Given the description of an element on the screen output the (x, y) to click on. 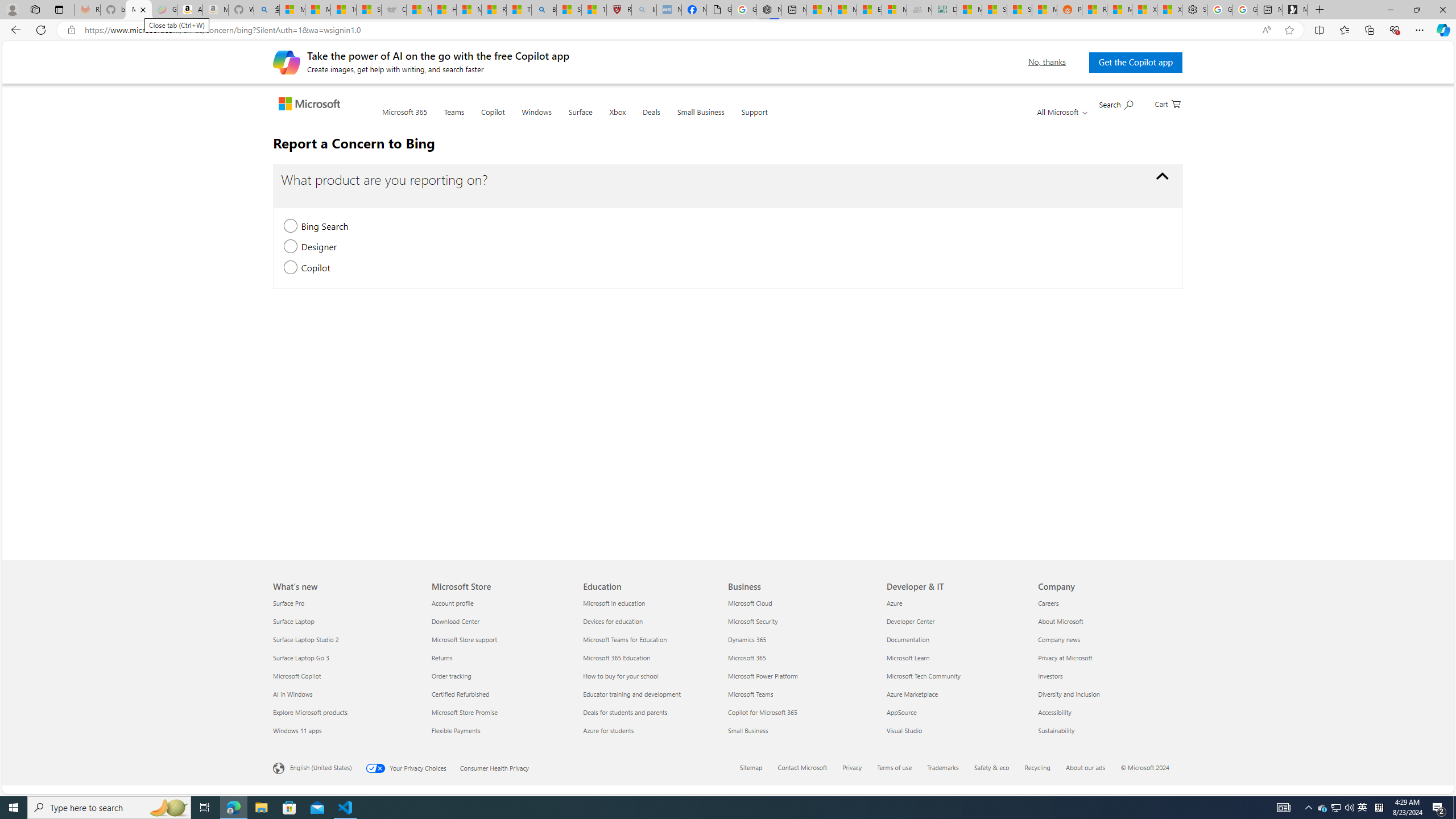
Entertainment - MSN (868, 9)
Diversity and inclusion Company (1069, 693)
Investors Company (1050, 675)
Documentation (955, 638)
Azure for students (651, 730)
Microsoft Store Promise Microsoft Store (463, 711)
Robert H. Shmerling, MD - Harvard Health (618, 9)
Surface Laptop Go 3 What's new (301, 656)
